Given the description of an element on the screen output the (x, y) to click on. 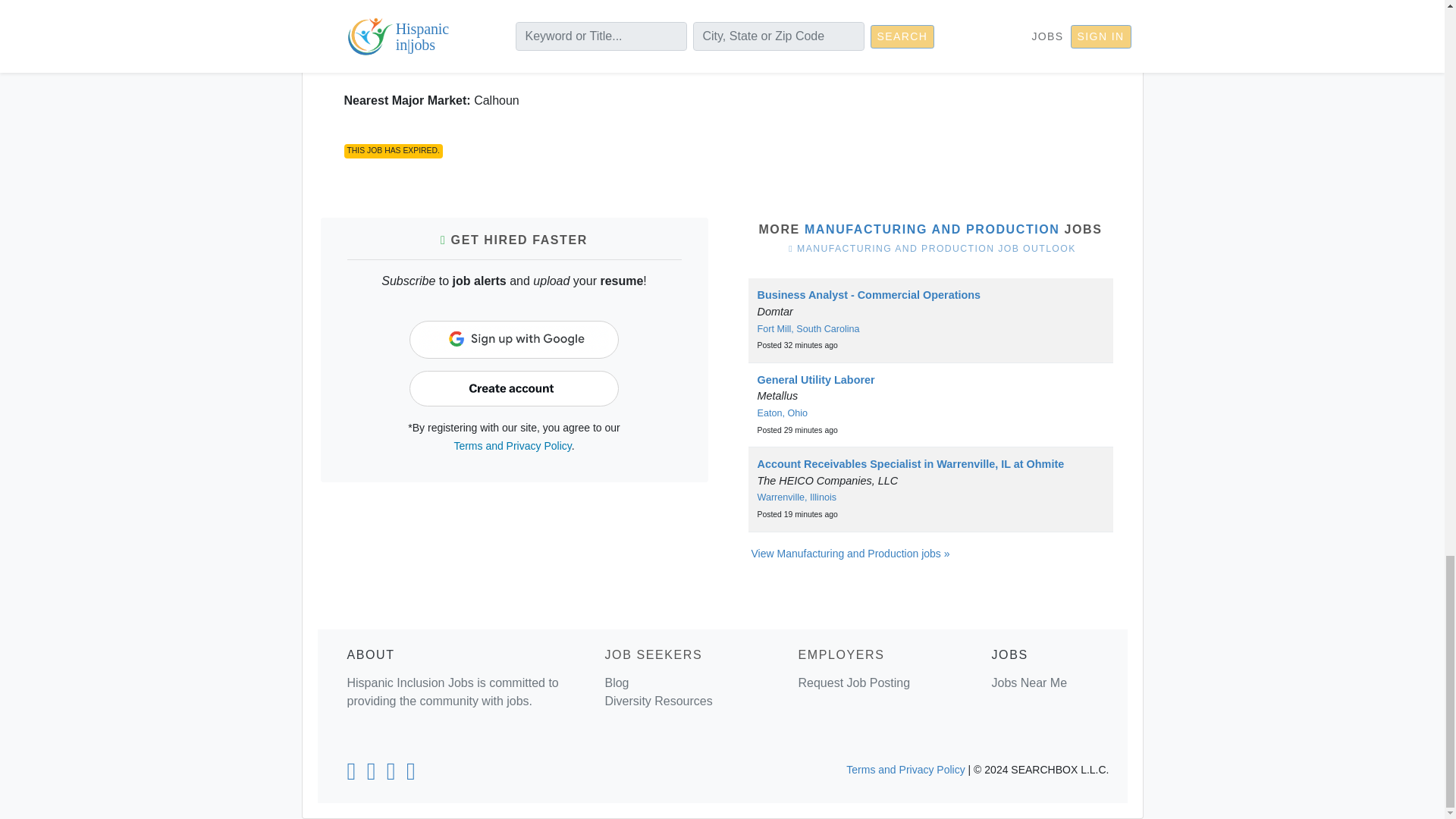
ABOUT (370, 654)
Link to LinkedIn (350, 775)
Fort Mill, South Carolina (808, 328)
Diversity Resources (657, 700)
Blog (616, 682)
Warrenville, Illinois (796, 497)
Terms and Privacy Policy (511, 445)
Link to Facebook (371, 775)
Eaton, Ohio (782, 412)
